Given the description of an element on the screen output the (x, y) to click on. 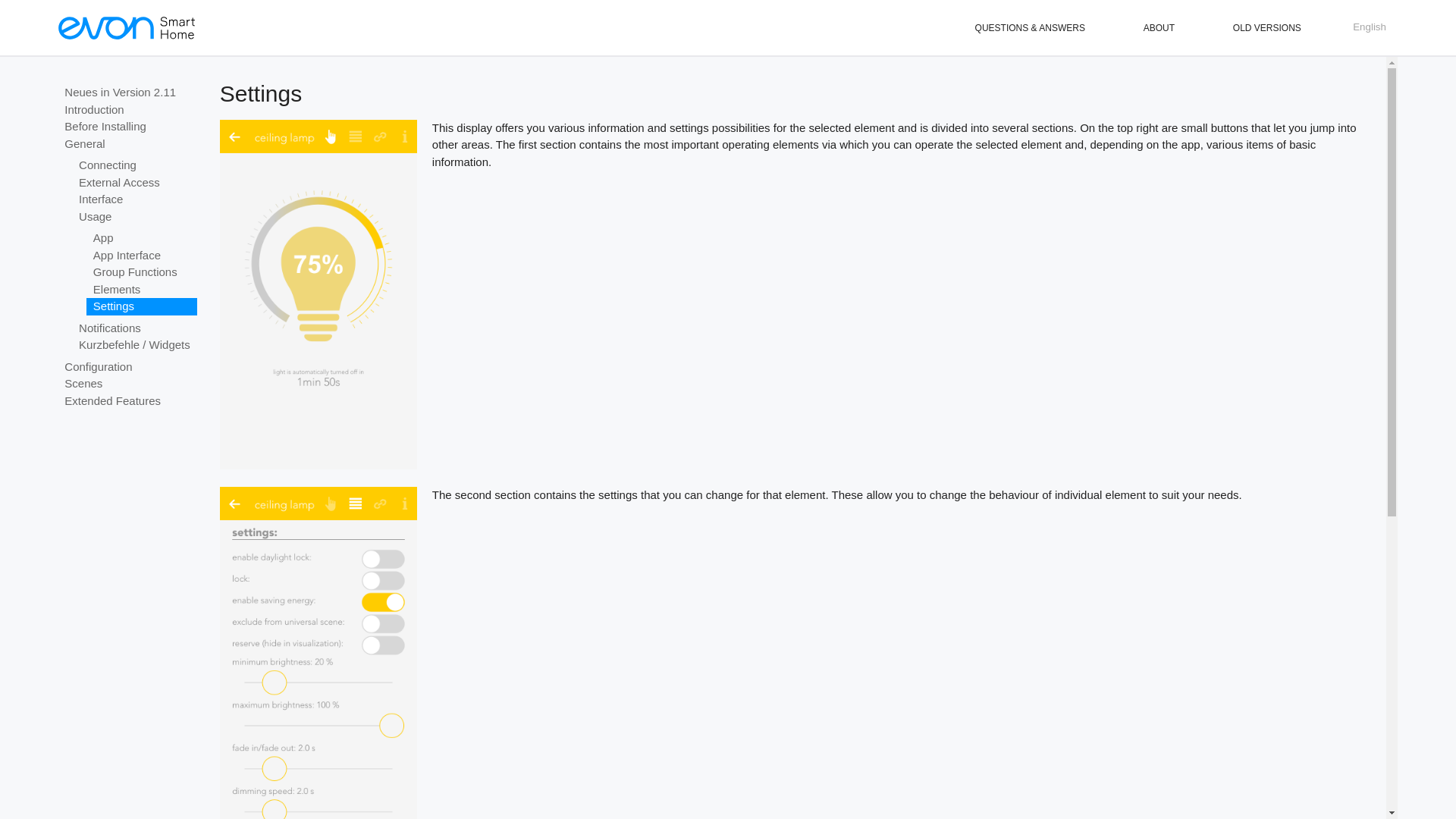
Connecting (134, 165)
Neues in Version 2.11 (127, 92)
Introduction (127, 109)
External Access (134, 182)
OLD VERSIONS (1267, 27)
ABOUT (1159, 27)
Usage (134, 216)
Before Installing (127, 126)
App (140, 238)
App Interface (140, 255)
General (127, 143)
Interface (134, 199)
